Given the description of an element on the screen output the (x, y) to click on. 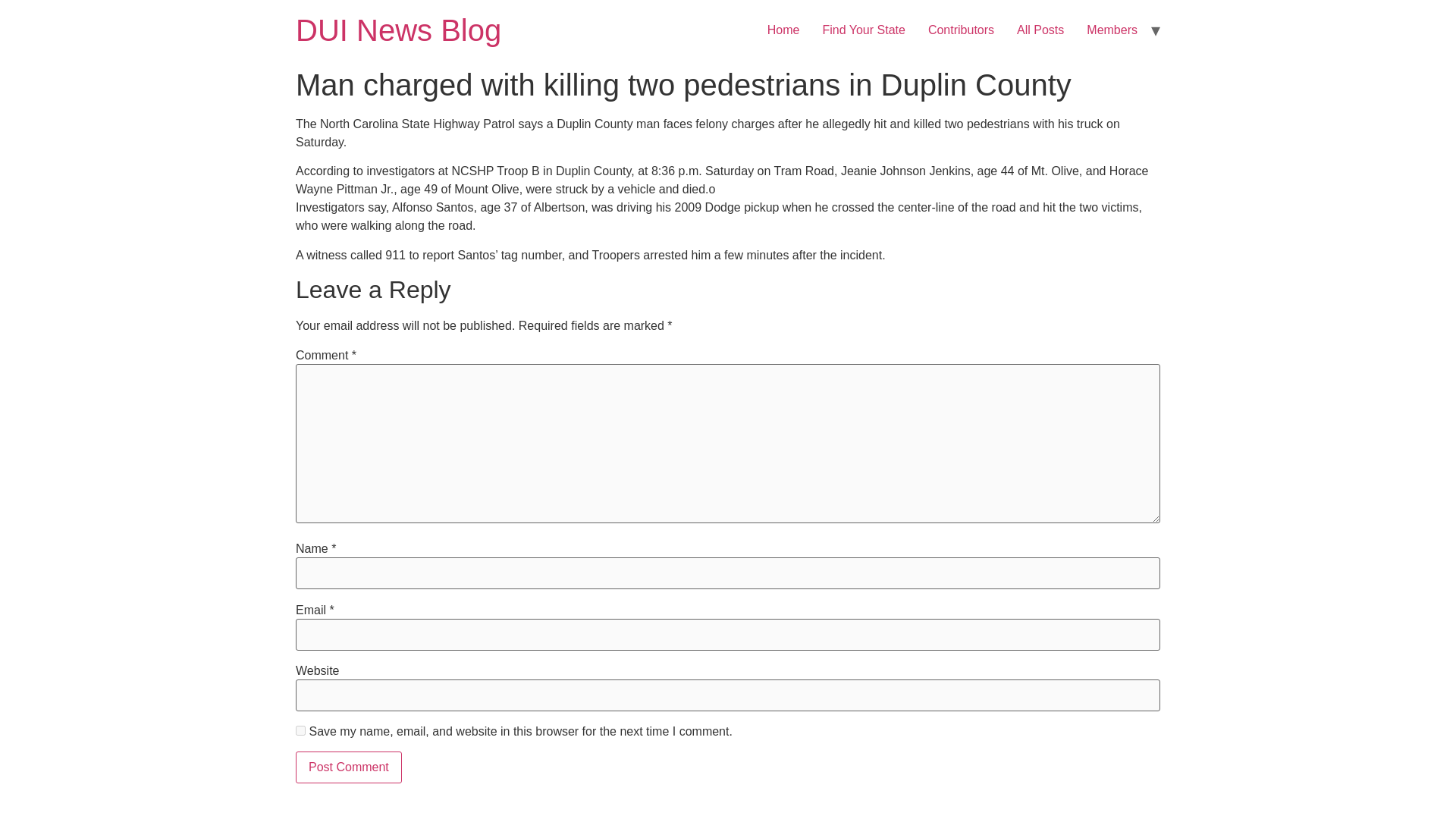
yes (300, 730)
Home (782, 30)
DUI News Blog (397, 29)
Find Your State (862, 30)
Contributors (961, 30)
All Posts (1040, 30)
Home (397, 29)
Members (1111, 30)
